Given the description of an element on the screen output the (x, y) to click on. 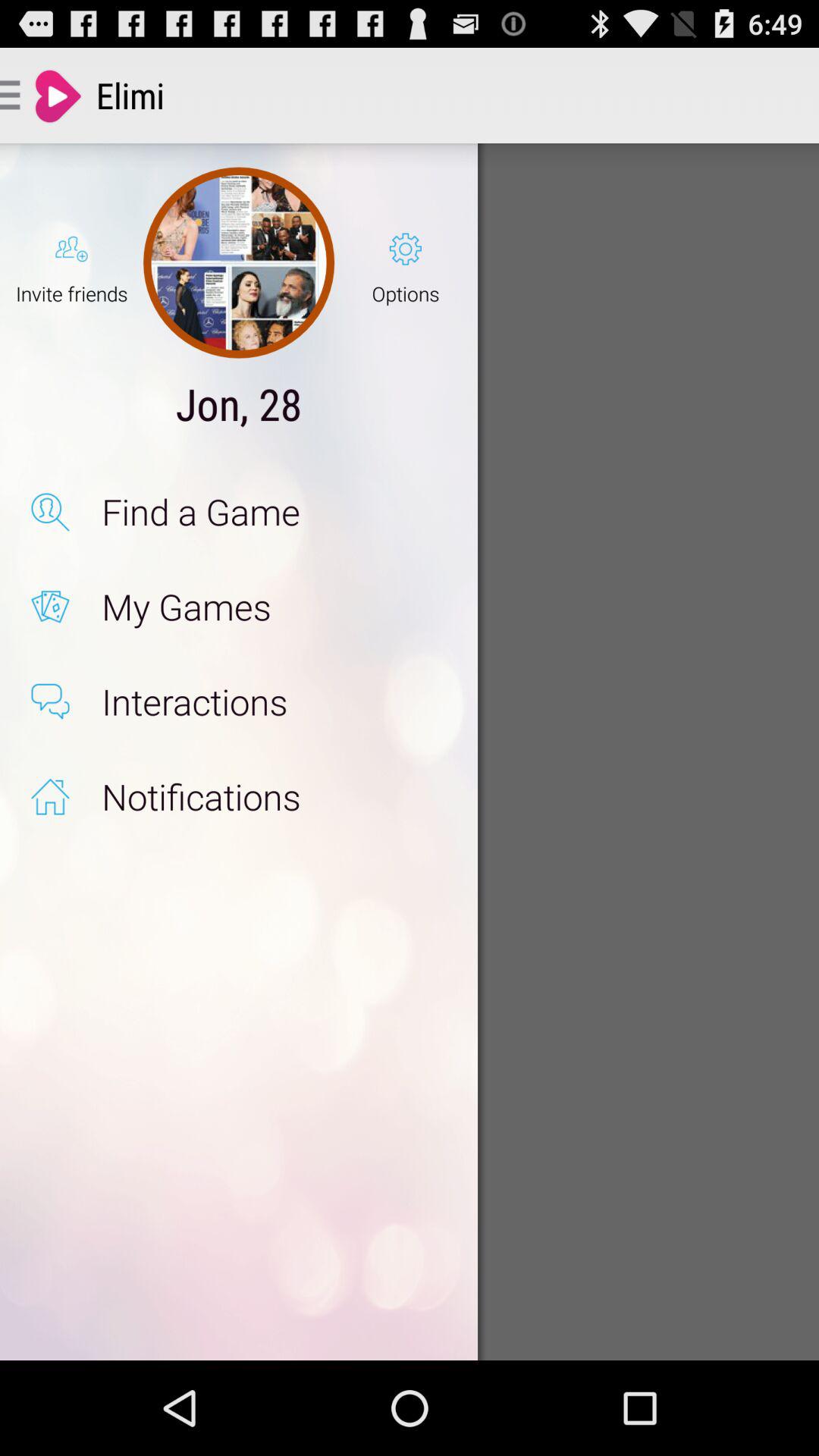
press the app above find a game item (238, 403)
